Given the description of an element on the screen output the (x, y) to click on. 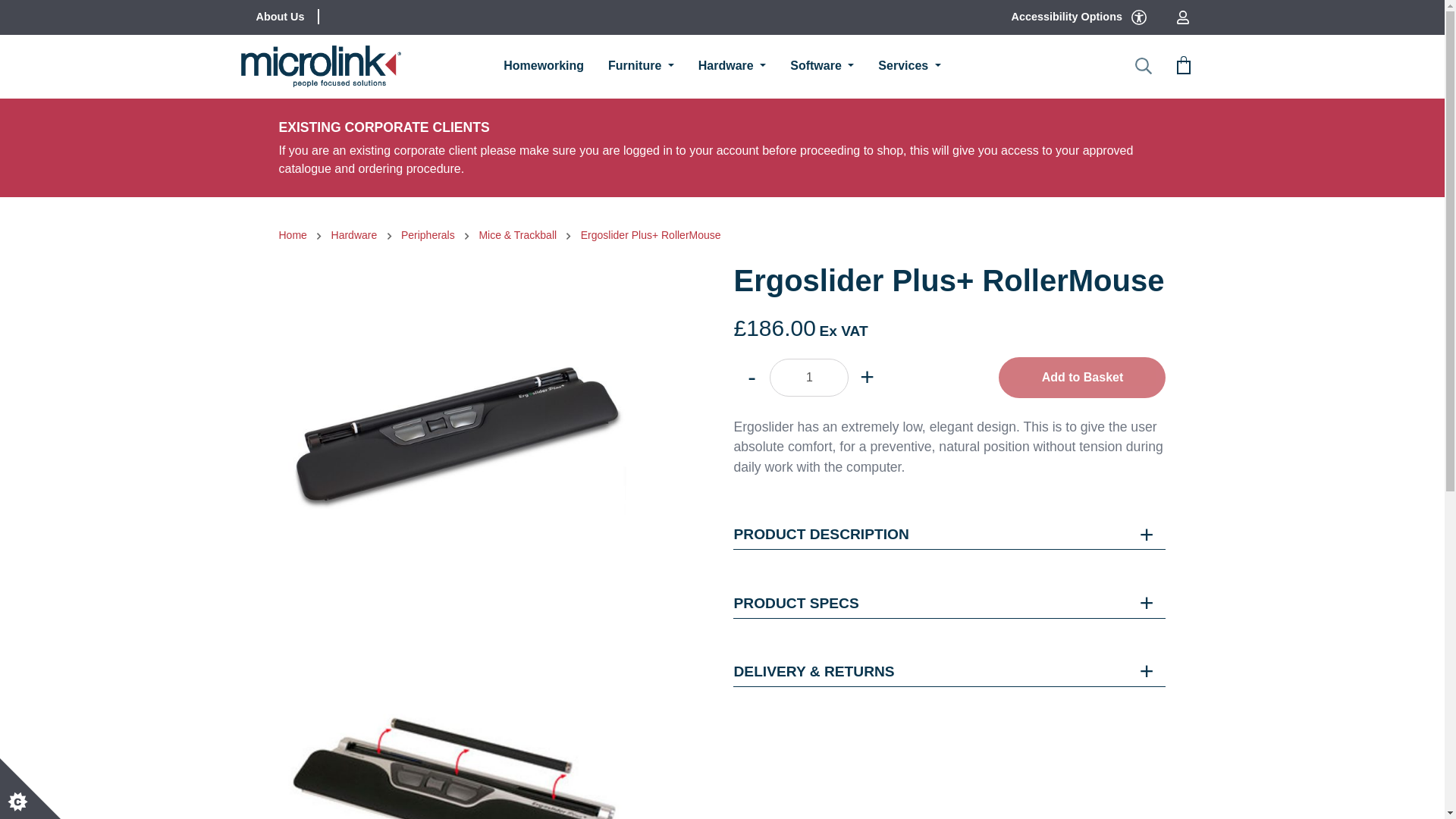
About Us (280, 17)
Homeworking (543, 65)
Cookie Control (30, 788)
Qty (809, 377)
1 (809, 377)
Accessibility Options   (1078, 17)
Cookie Control (30, 788)
Furniture (641, 65)
Hardware (731, 65)
